Given the description of an element on the screen output the (x, y) to click on. 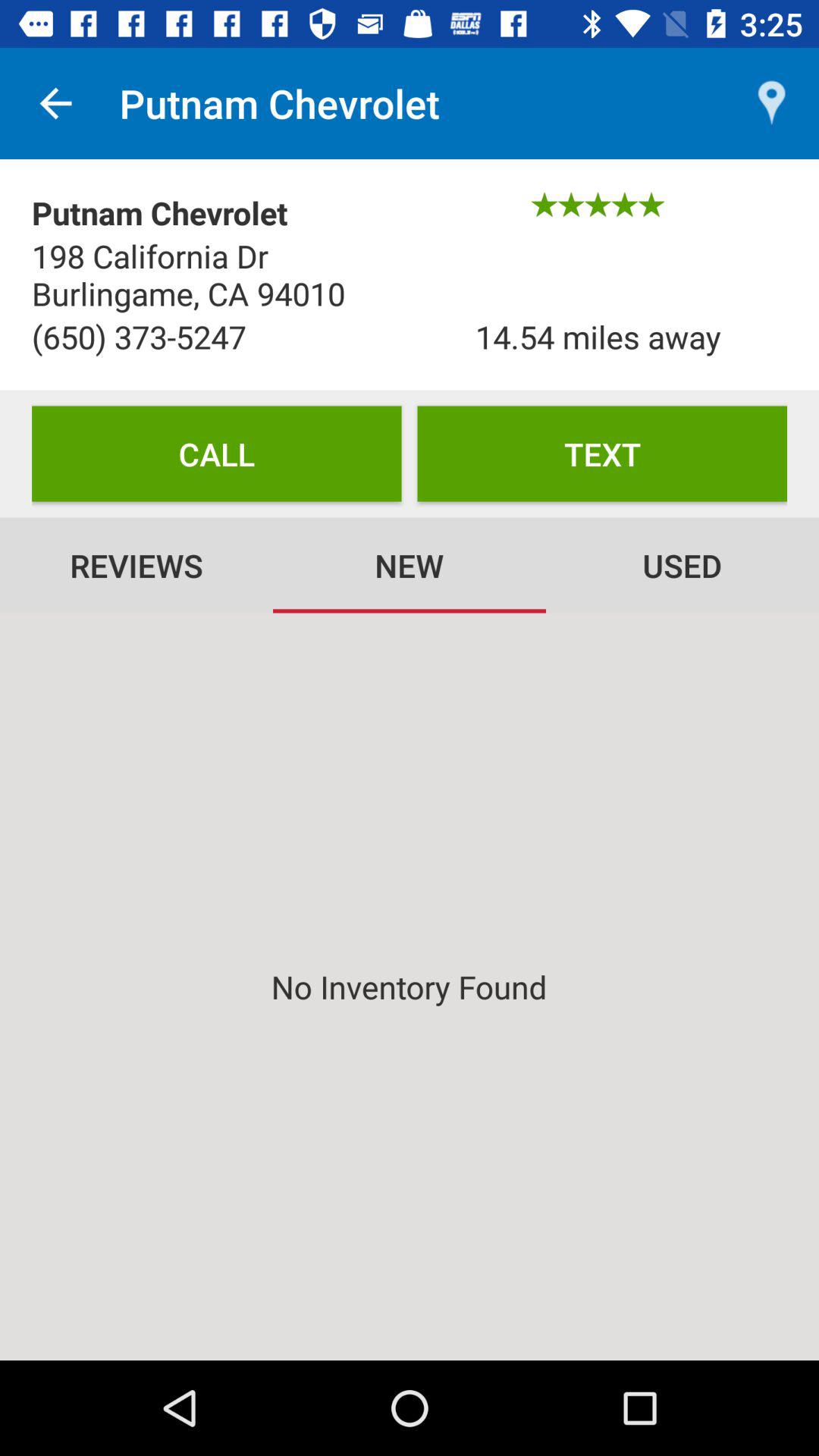
launch the item to the right of the call item (602, 453)
